Given the description of an element on the screen output the (x, y) to click on. 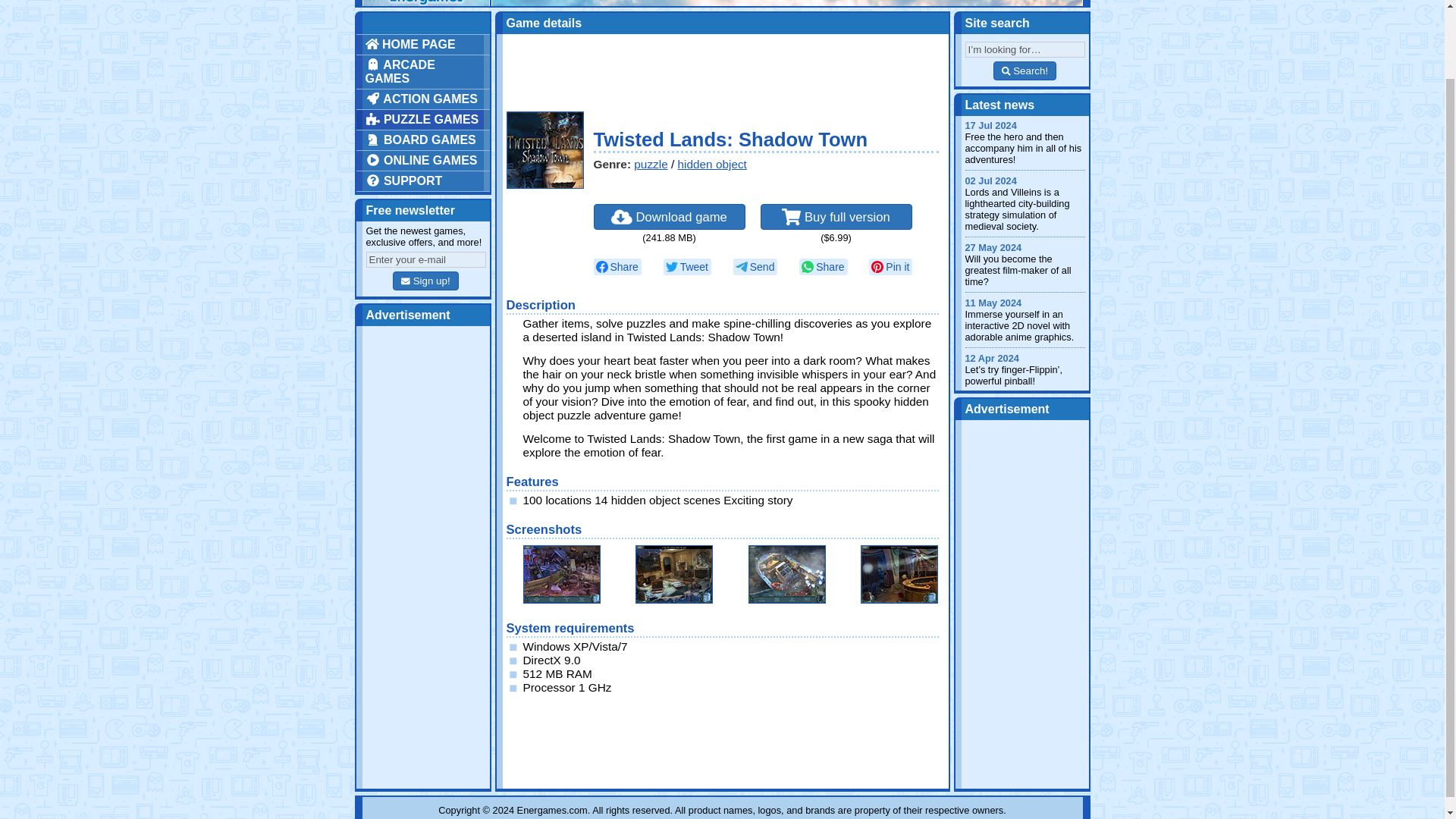
Buy full version (835, 216)
Share (616, 266)
PUZZLE GAMES (422, 119)
ARCADE GAMES (422, 71)
ACTION GAMES (422, 98)
HOME PAGE (422, 44)
puzzle (649, 164)
Sign up! (425, 280)
Share (823, 266)
Advertisement (722, 71)
hidden object (712, 164)
